Given the description of an element on the screen output the (x, y) to click on. 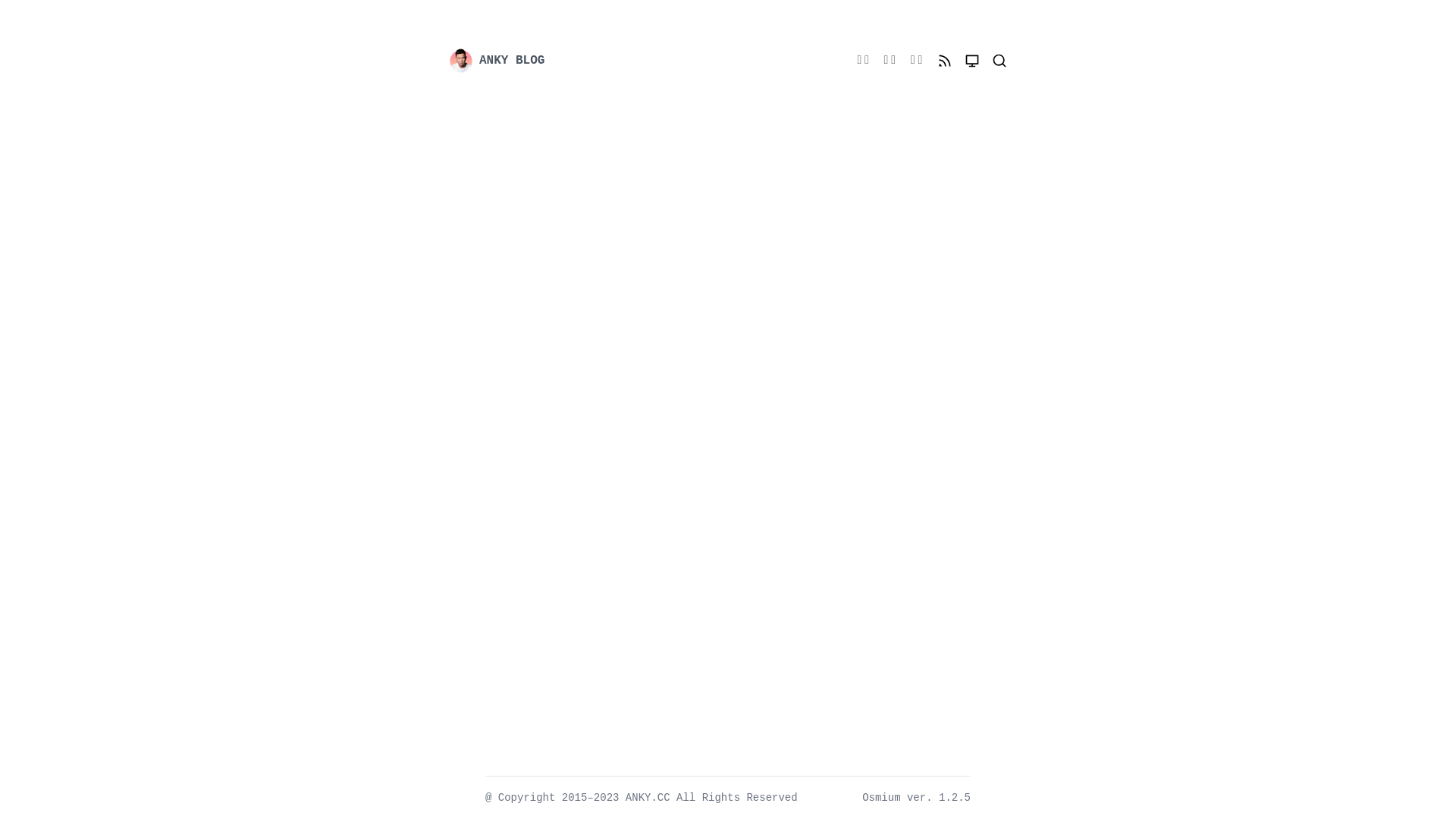
ANKY BLOG Element type: text (598, 60)
